Given the description of an element on the screen output the (x, y) to click on. 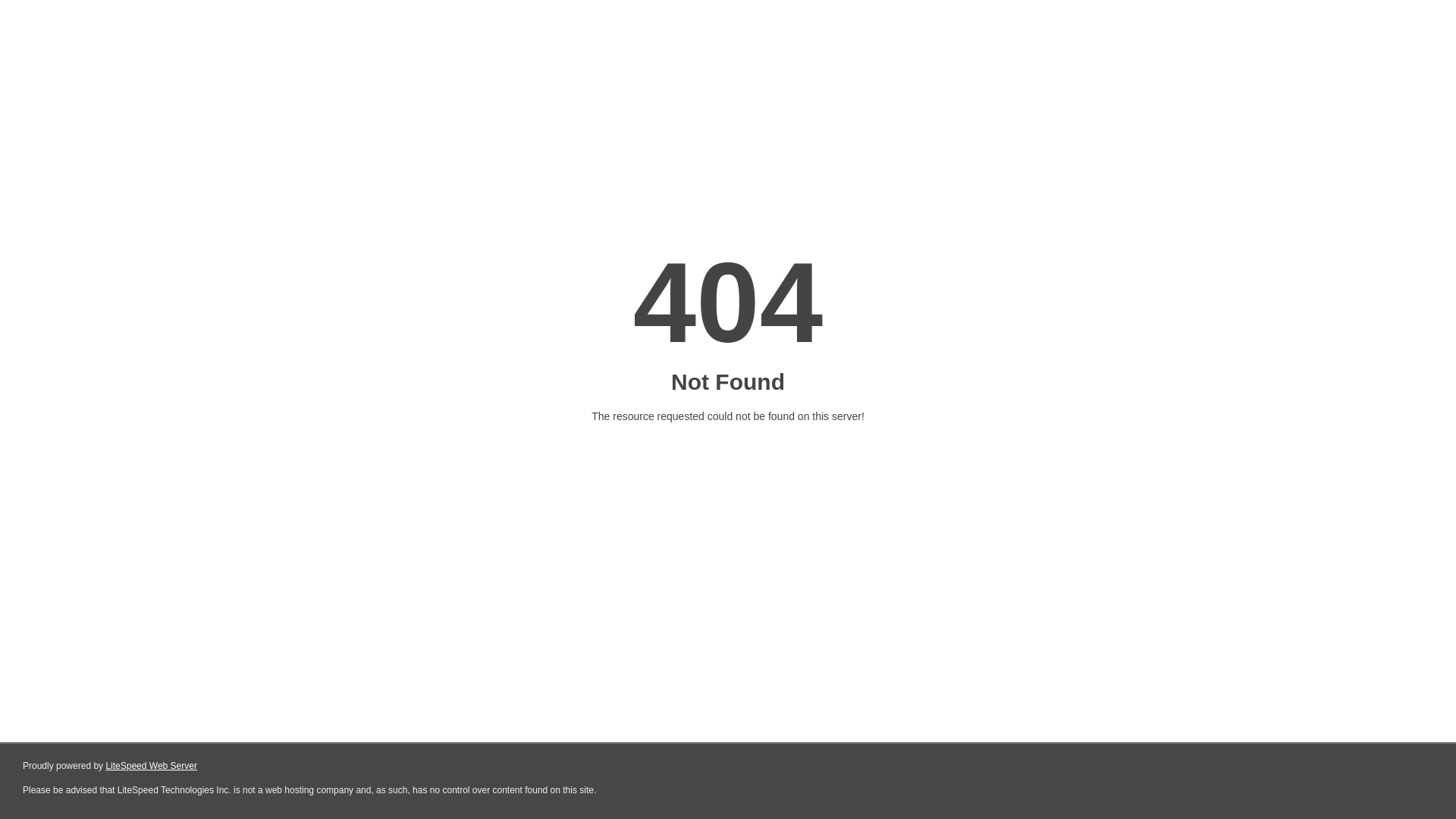
LiteSpeed Web Server Element type: text (151, 765)
